Given the description of an element on the screen output the (x, y) to click on. 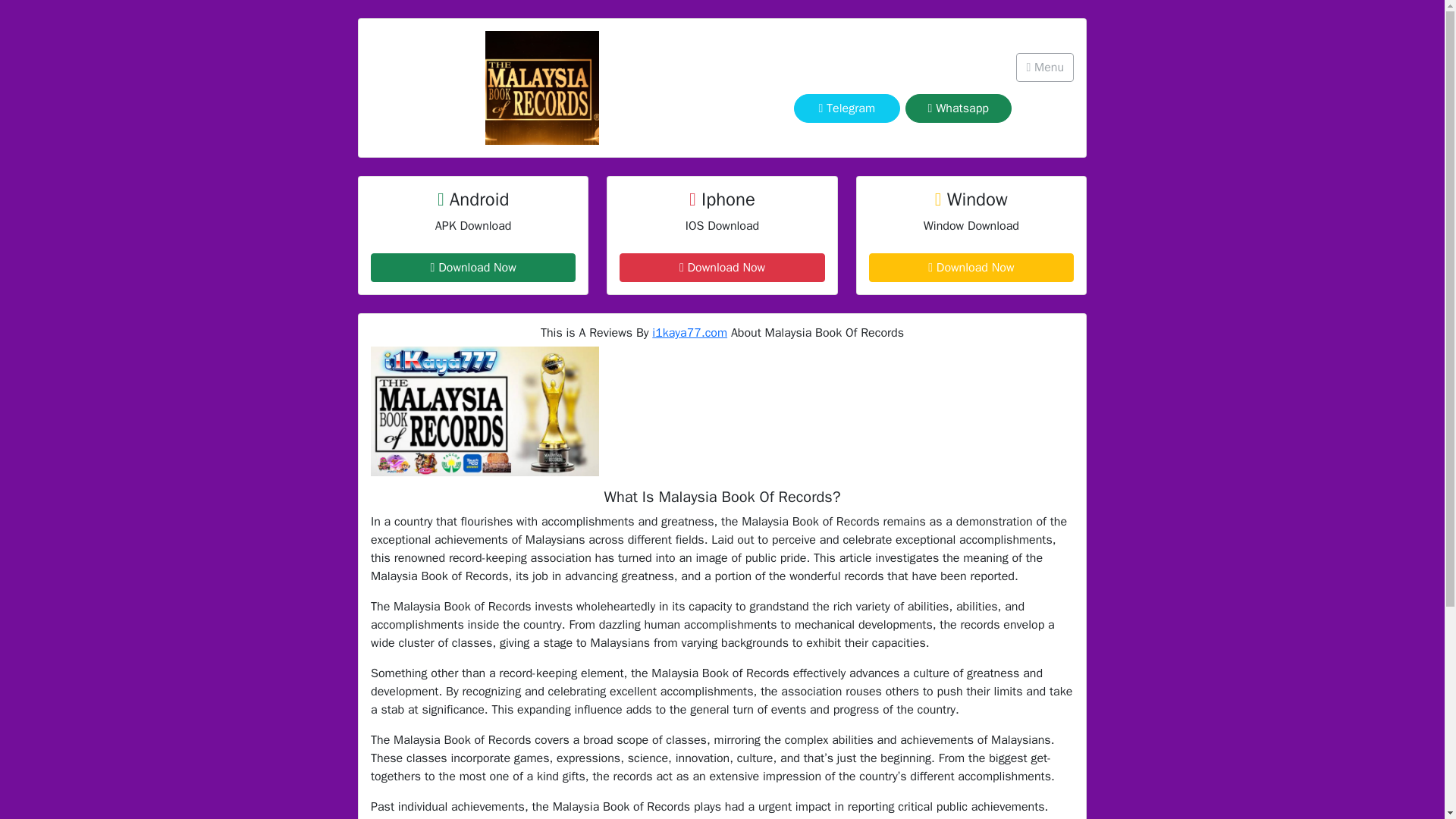
Download Now (971, 267)
Download Now (473, 267)
Menu (1045, 67)
Download Now (722, 267)
Telegram (846, 108)
i1kaya77.com (689, 332)
Whatsapp (958, 108)
